Given the description of an element on the screen output the (x, y) to click on. 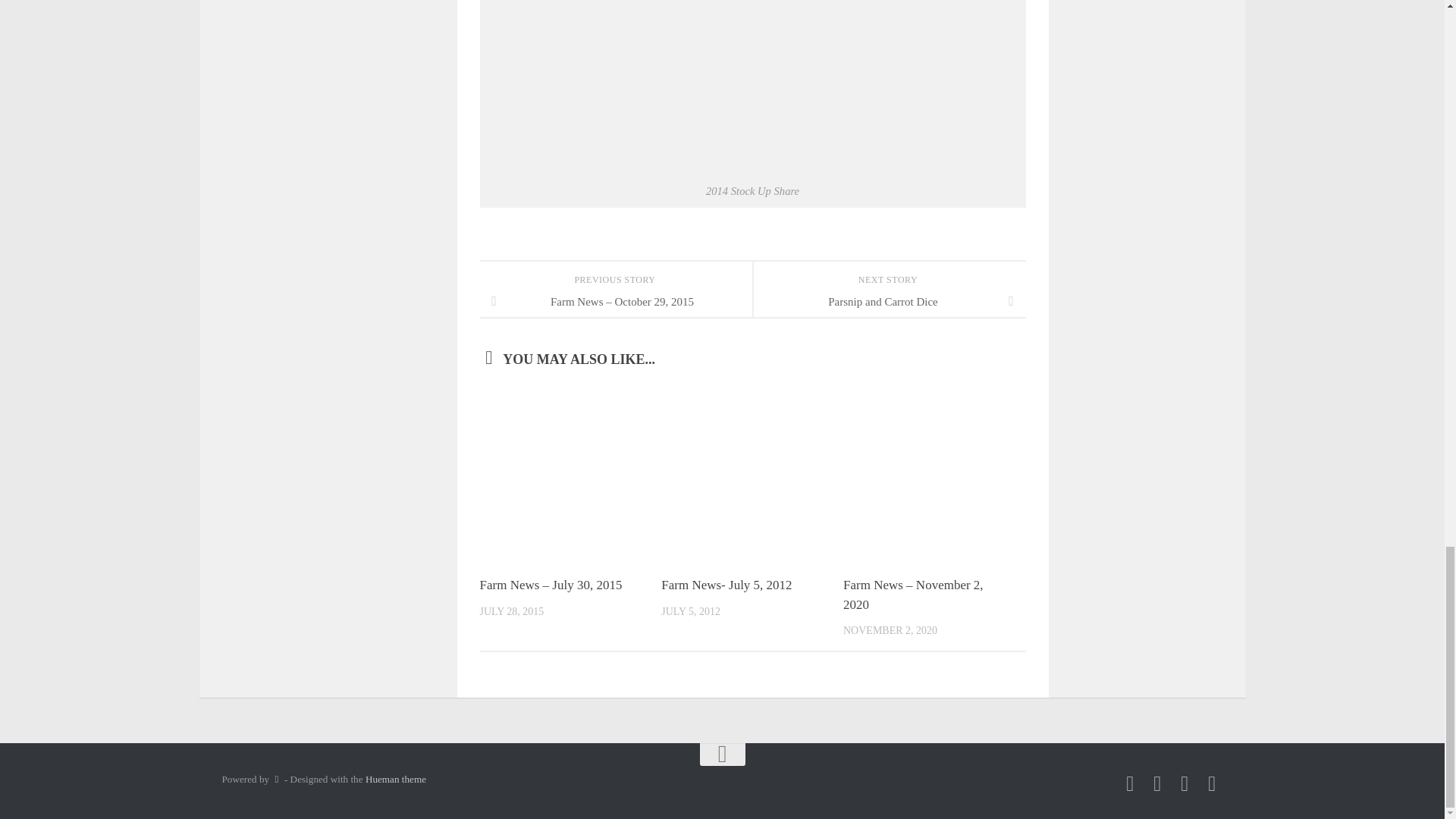
Parsnip and Carrot Dice (888, 301)
Powered by WordPress (275, 778)
Hueman theme (395, 778)
